Given the description of an element on the screen output the (x, y) to click on. 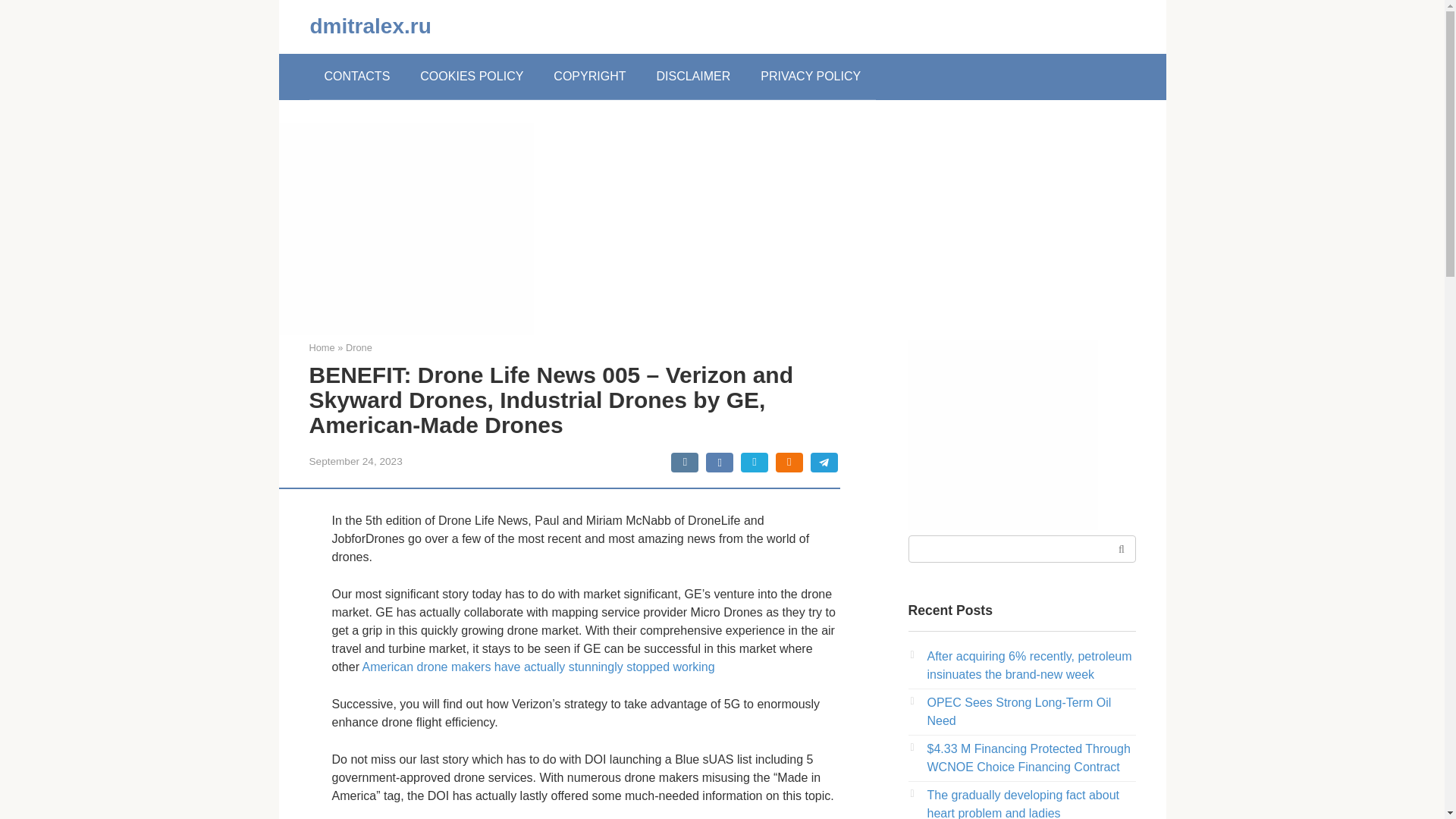
DISCLAIMER (692, 76)
dmitralex.ru (369, 25)
CONTACTS (357, 76)
OPEC Sees Strong Long-Term Oil Need (1018, 711)
PRIVACY POLICY (810, 76)
COOKIES POLICY (471, 76)
COPYRIGHT (589, 76)
Drone (359, 347)
The gradually developing fact about heart problem and ladies (1022, 803)
Home (321, 347)
